Given the description of an element on the screen output the (x, y) to click on. 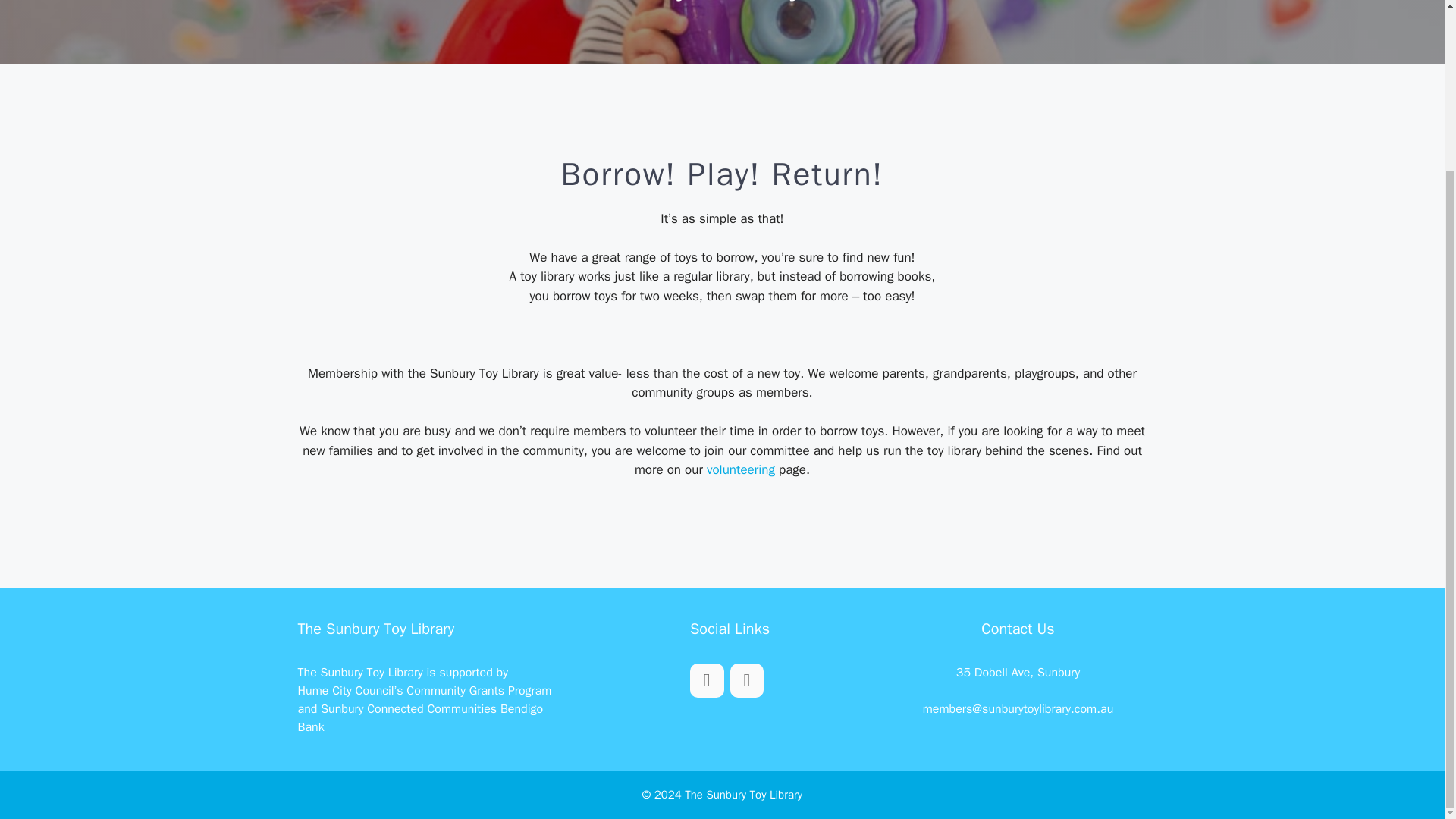
volunteering (740, 469)
Instagram (706, 680)
35 Dobell Ave, Sunbury (1018, 672)
Facebook (745, 680)
